Given the description of an element on the screen output the (x, y) to click on. 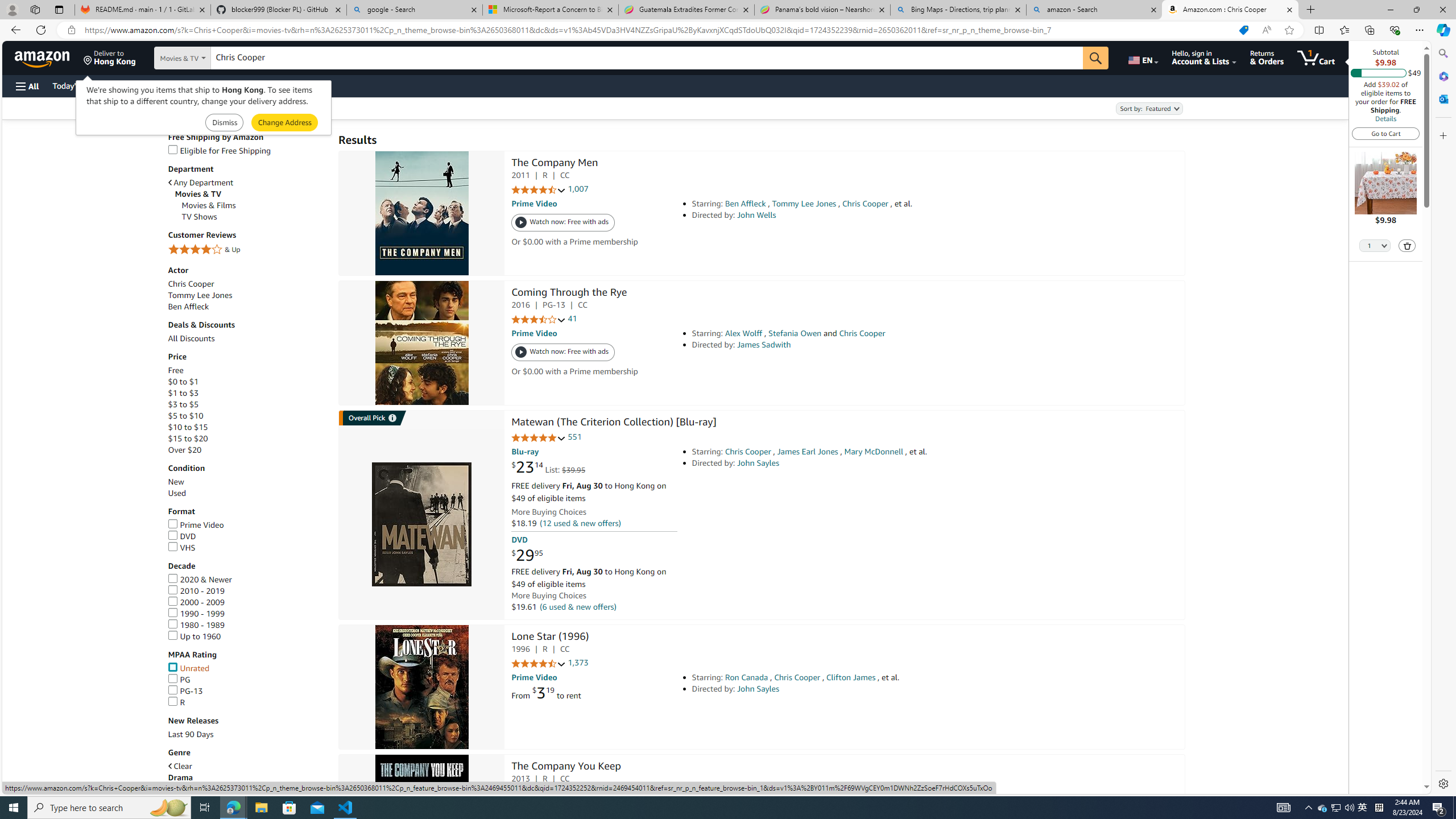
$5 to $10 (247, 415)
Lone Star (1996) (421, 686)
Coming Through the Rye (421, 342)
John Sayles (758, 688)
1,373 (577, 662)
$5 to $10 (185, 415)
Submit (284, 122)
Movies & Films (208, 205)
$29.95 (527, 555)
Directed by: John Wells (850, 215)
